Given the description of an element on the screen output the (x, y) to click on. 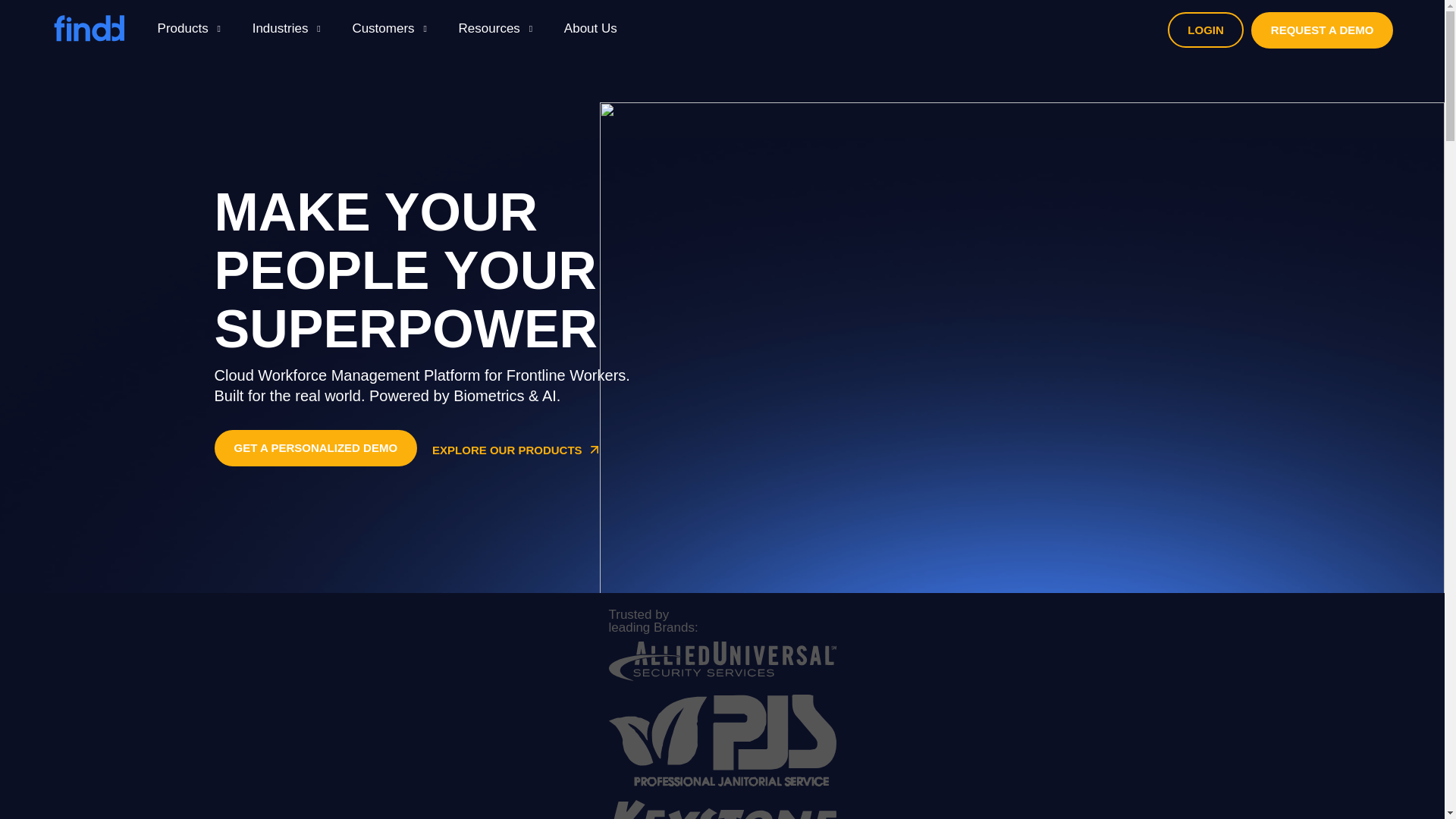
About Us (590, 28)
Resources (488, 28)
Products (182, 28)
Industries (279, 28)
Customers (382, 28)
GET A PERSONALIZED DEMO (315, 447)
EXPLORE OUR PRODUCTS (517, 452)
REQUEST A DEMO (1321, 30)
LOGIN (1205, 30)
